Given the description of an element on the screen output the (x, y) to click on. 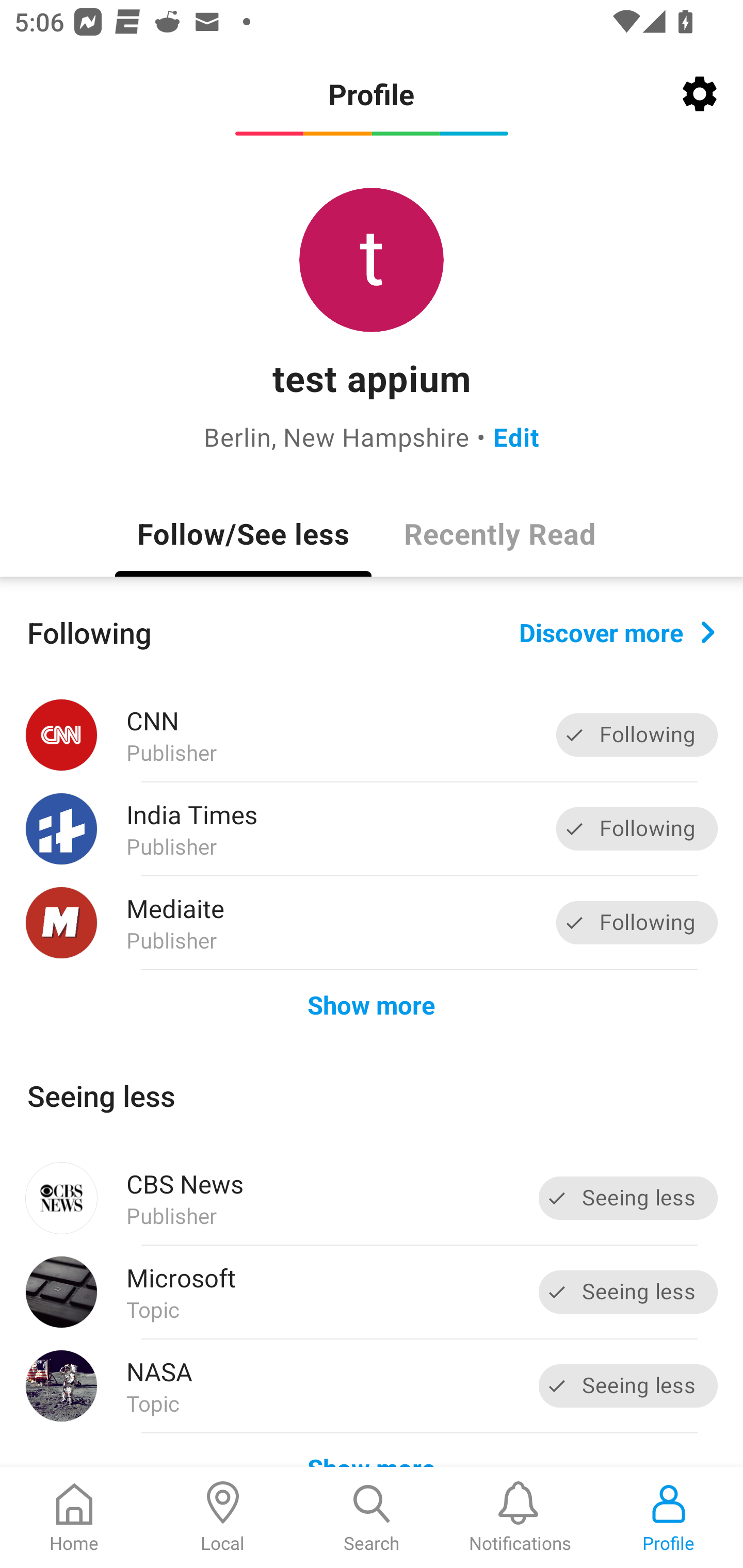
Settings (699, 93)
Edit (516, 436)
Recently Read (499, 533)
Discover more (617, 631)
CNN Publisher Following (371, 735)
Following (636, 735)
India Times Publisher Following (371, 829)
Following (636, 828)
Mediaite Publisher Following (371, 922)
Following (636, 922)
Show more (371, 1004)
CBS News Publisher Seeing less (371, 1197)
Seeing less (627, 1197)
Microsoft Topic Seeing less (371, 1291)
Seeing less (627, 1291)
NASA Topic Seeing less (371, 1386)
Seeing less (627, 1386)
Home (74, 1517)
Local (222, 1517)
Search (371, 1517)
Notifications (519, 1517)
